Given the description of an element on the screen output the (x, y) to click on. 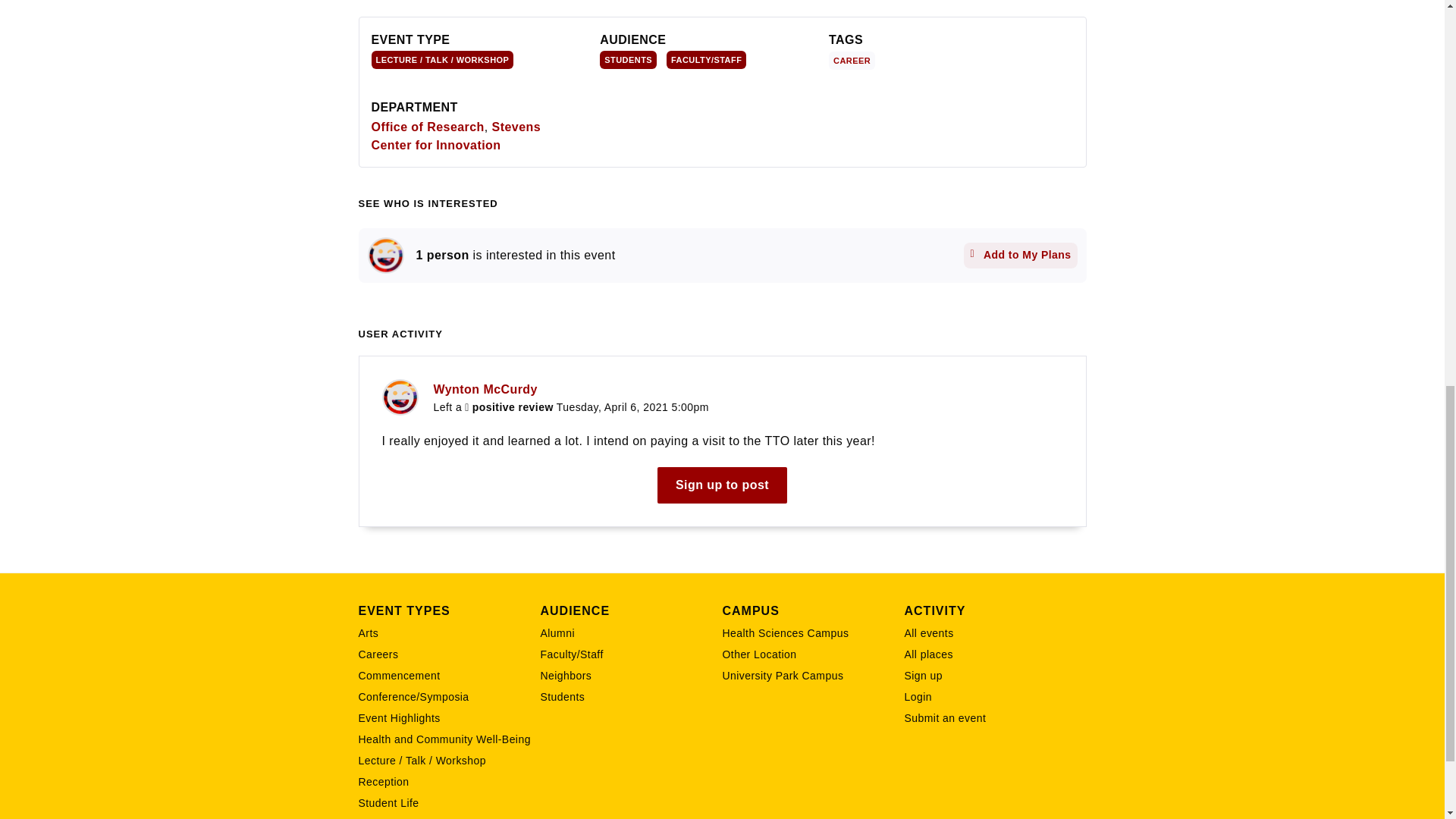
Wynton McCurdy (384, 255)
STUDENTS (627, 59)
Stevens Center for Innovation (456, 135)
CAREER (854, 59)
Add to My Plans (1020, 255)
Office of Research (427, 126)
